Given the description of an element on the screen output the (x, y) to click on. 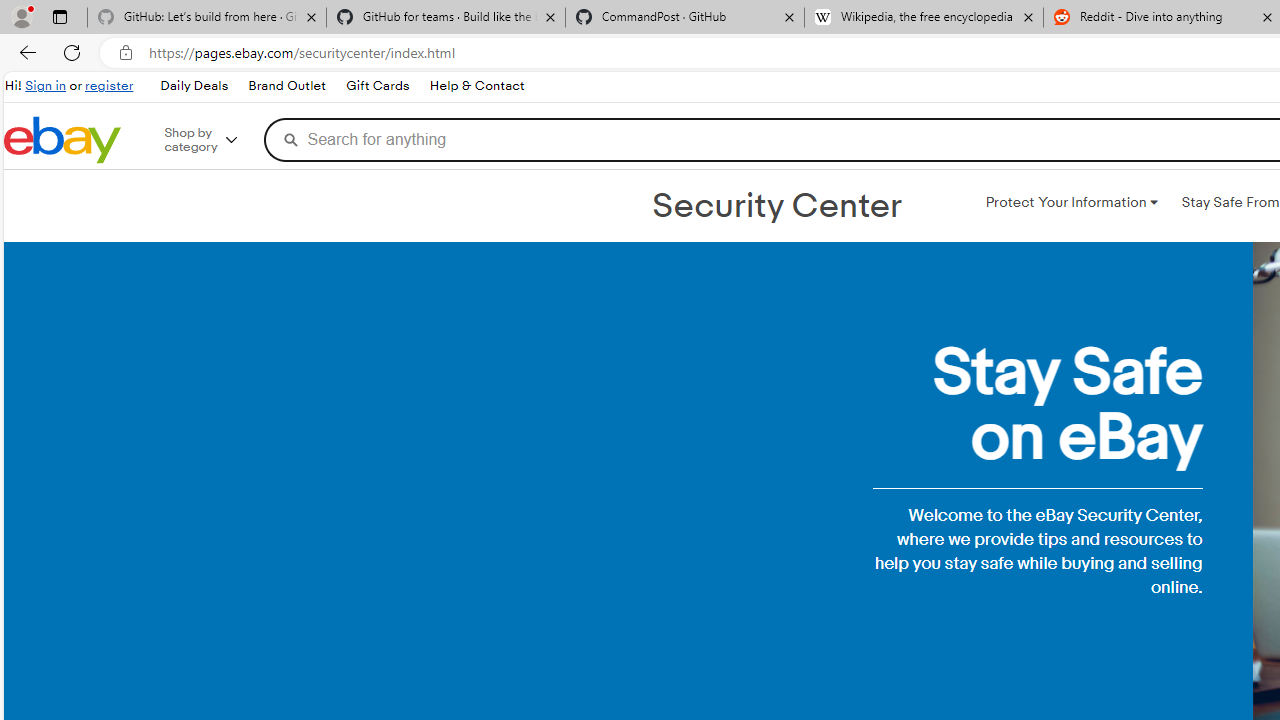
Brand Outlet (287, 86)
eBay Home (62, 139)
Gift Cards (376, 85)
Help & Contact (475, 85)
Shop by category (213, 140)
Gift Cards (377, 86)
register (109, 85)
Help & Contact (476, 86)
